Given the description of an element on the screen output the (x, y) to click on. 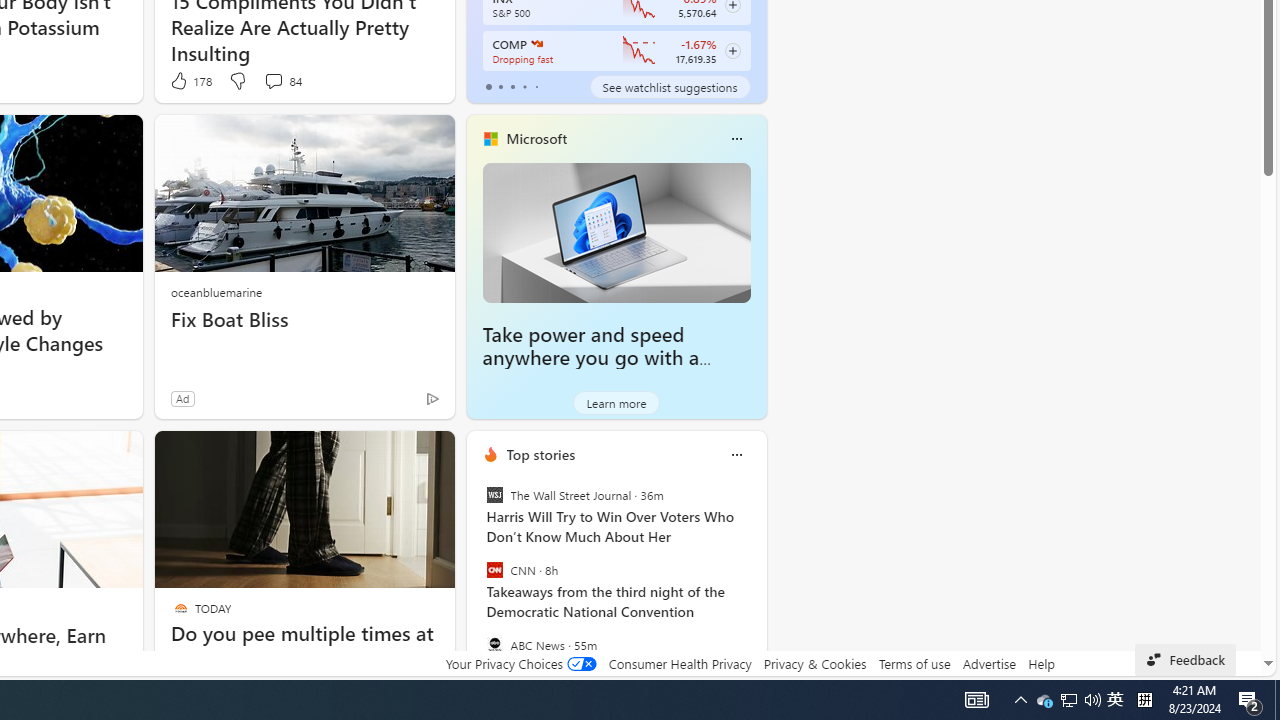
Fix Boat Bliss (304, 319)
Take power and speed anywhere you go with a Windows laptop. (591, 357)
Class: follow-button  m (732, 51)
tab-3 (524, 86)
CNN (494, 570)
tab-4 (535, 86)
Hide this story (393, 454)
View comments 84 Comment (273, 80)
